Given the description of an element on the screen output the (x, y) to click on. 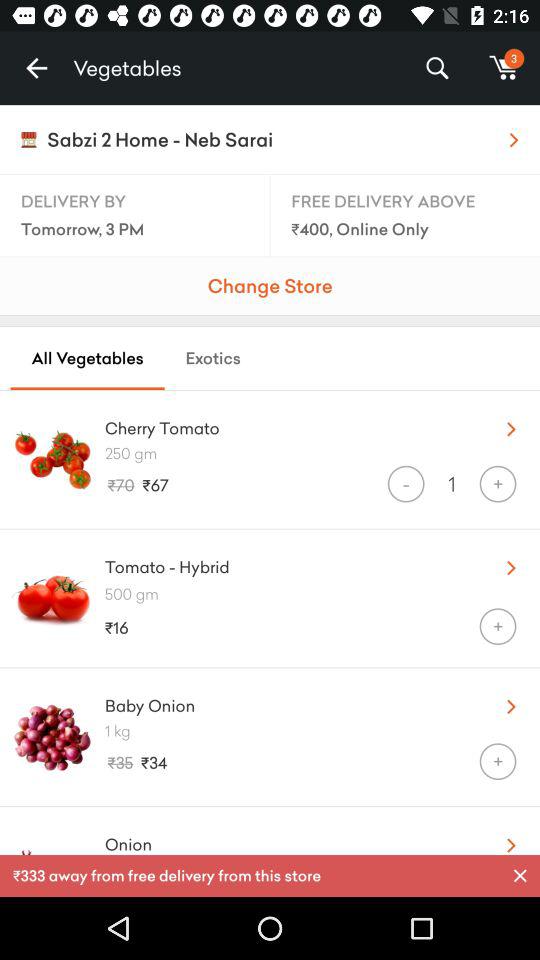
turn off item next to the vegetables icon (36, 68)
